Given the description of an element on the screen output the (x, y) to click on. 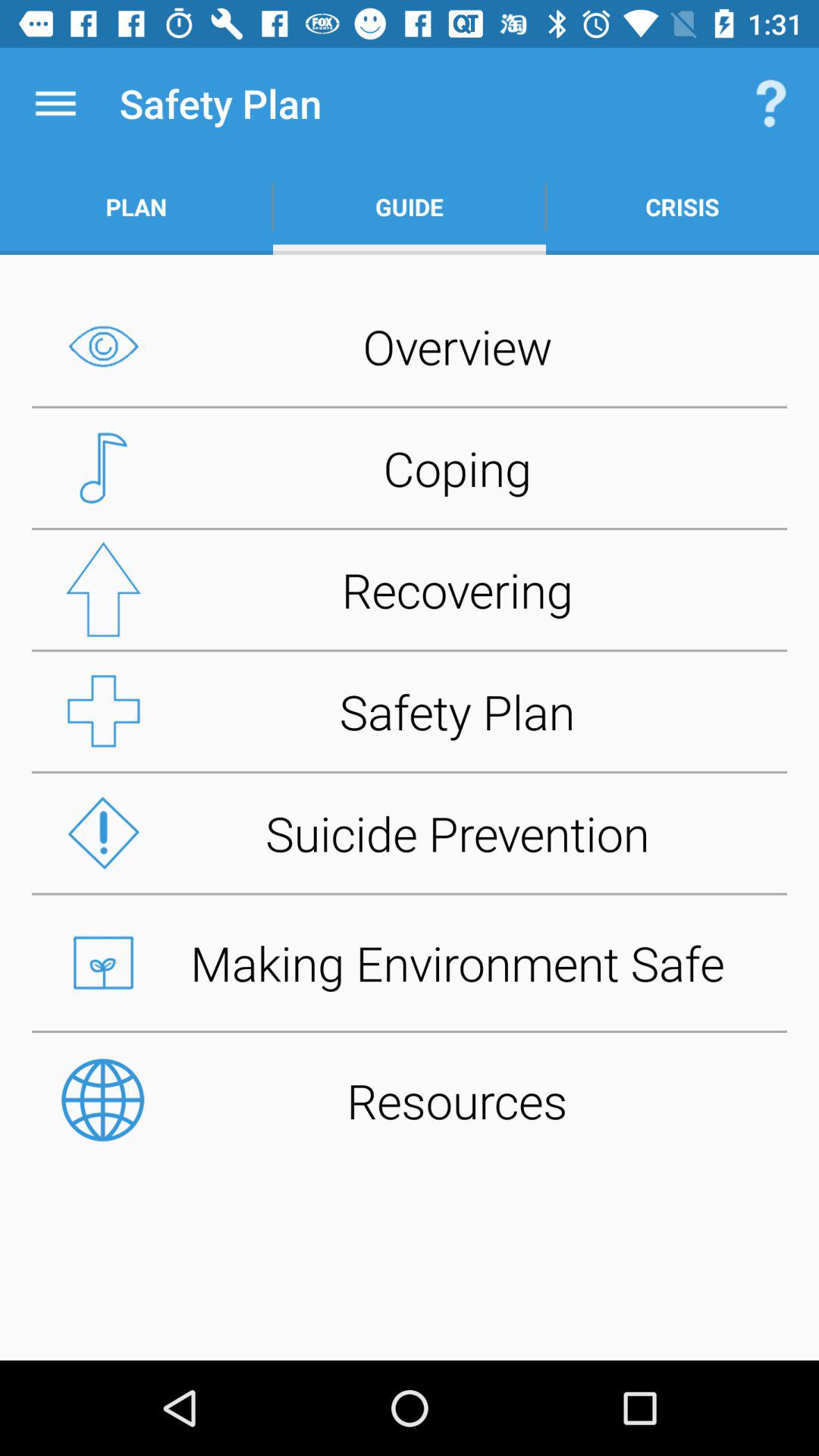
open the icon next to guide app (682, 206)
